Given the description of an element on the screen output the (x, y) to click on. 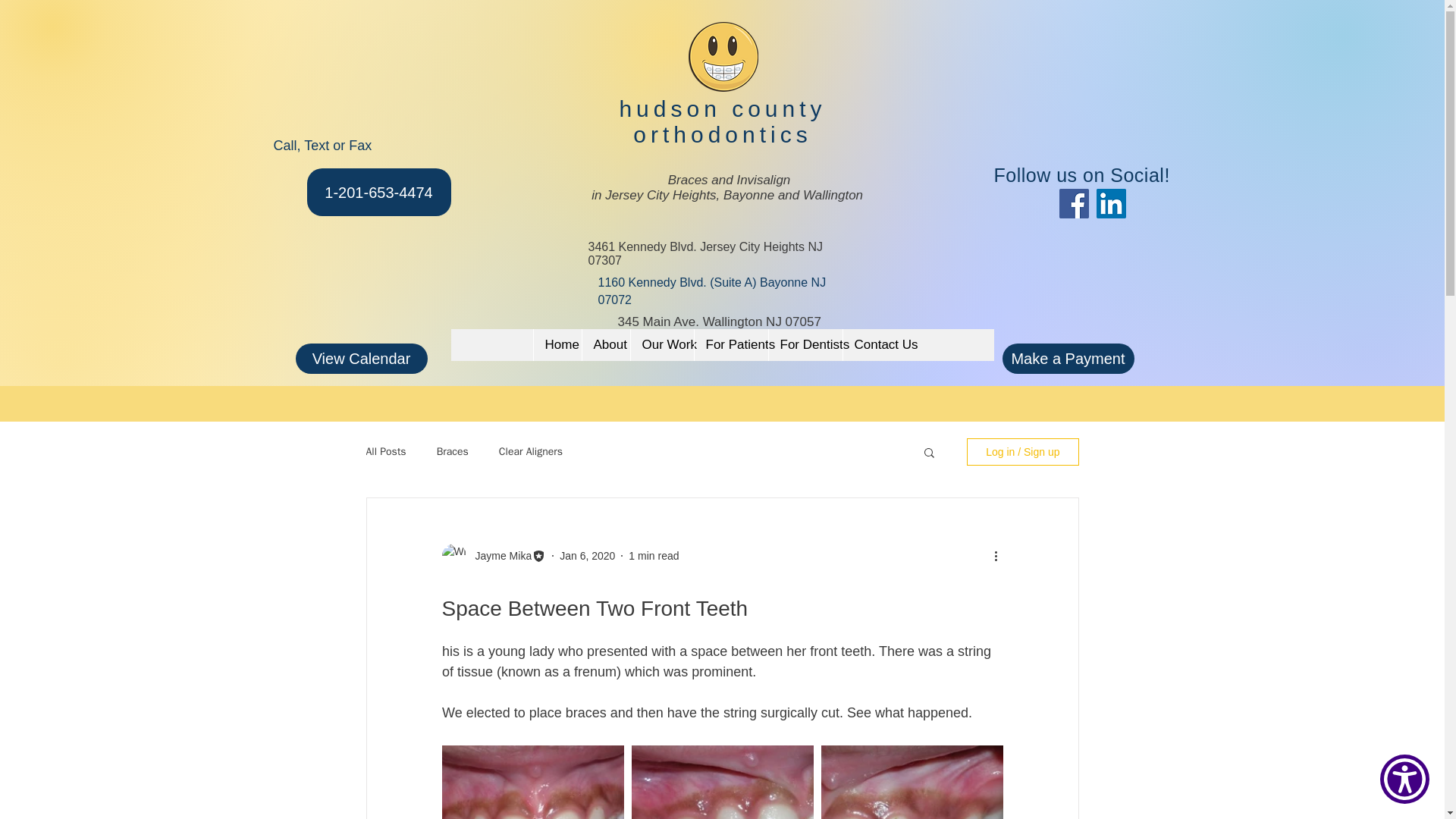
hudson county orthodontics (721, 121)
Jan 6, 2020 (586, 554)
View Calendar (361, 358)
Make a Payment (1068, 358)
345 Main Ave. Wallington NJ 07057 (719, 321)
1-201-653-4474 (377, 192)
3461 Kennedy Blvd. Jersey City Heights NJ 07307 (705, 253)
1 min read (653, 554)
Jayme Mika (498, 555)
All Posts (385, 451)
